Given the description of an element on the screen output the (x, y) to click on. 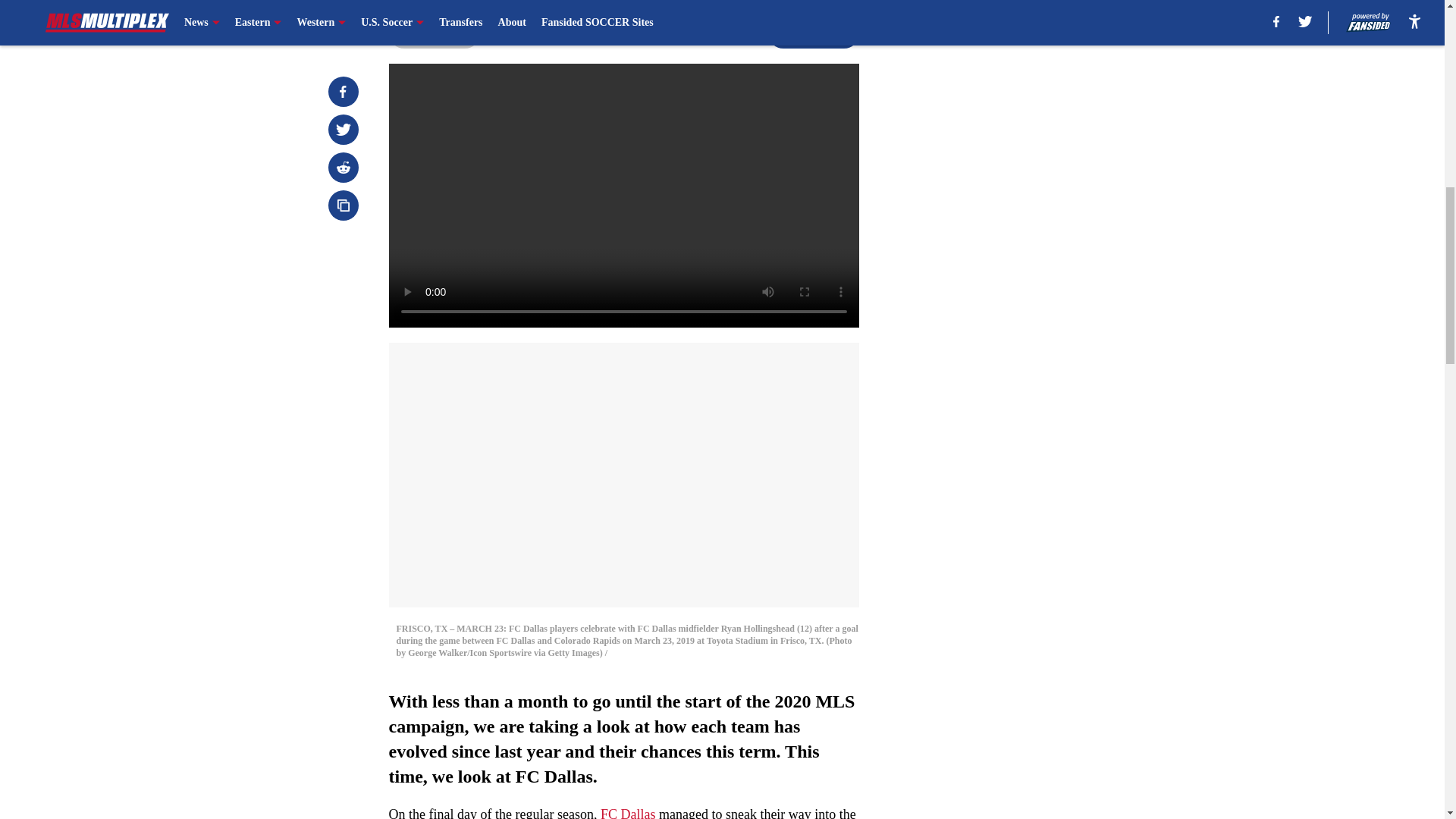
3rd party ad content (1047, 332)
3rd party ad content (1047, 113)
